Given the description of an element on the screen output the (x, y) to click on. 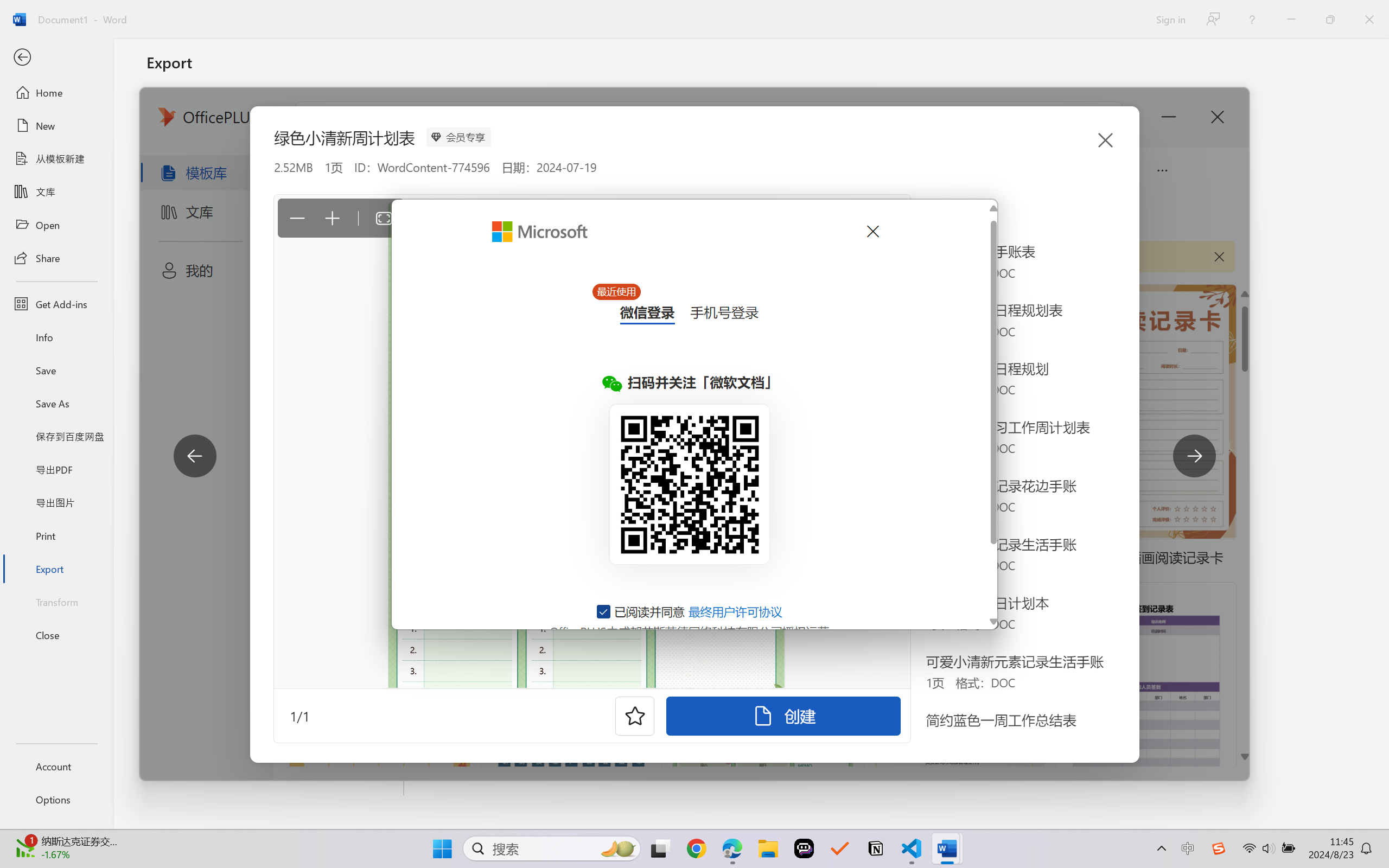
Create PDF/XPS Document (275, 110)
AutomationID: checkbox-14 (604, 611)
